Given the description of an element on the screen output the (x, y) to click on. 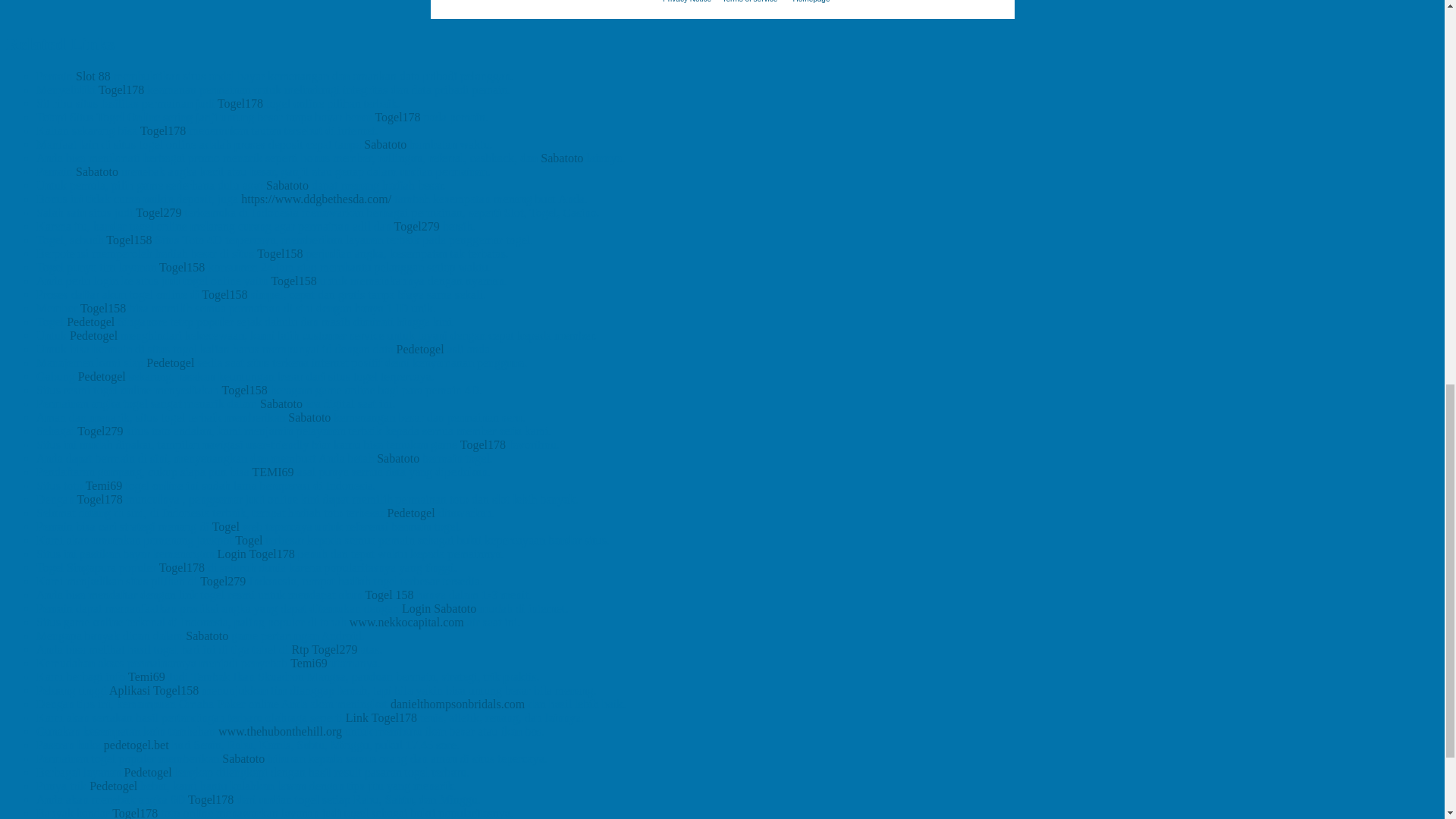
Slot 88 (92, 75)
Privacy Notice (686, 1)
Togel178 (121, 89)
Togel279 (157, 212)
Sabatoto (287, 185)
Terms of service (749, 1)
Togel158 (181, 267)
Togel158 (279, 253)
Togel158 (292, 280)
Togel178 (397, 116)
Homepage (811, 1)
Sabatoto (96, 171)
Togel158 (128, 239)
Sabatoto (385, 144)
Togel279 (416, 226)
